Given the description of an element on the screen output the (x, y) to click on. 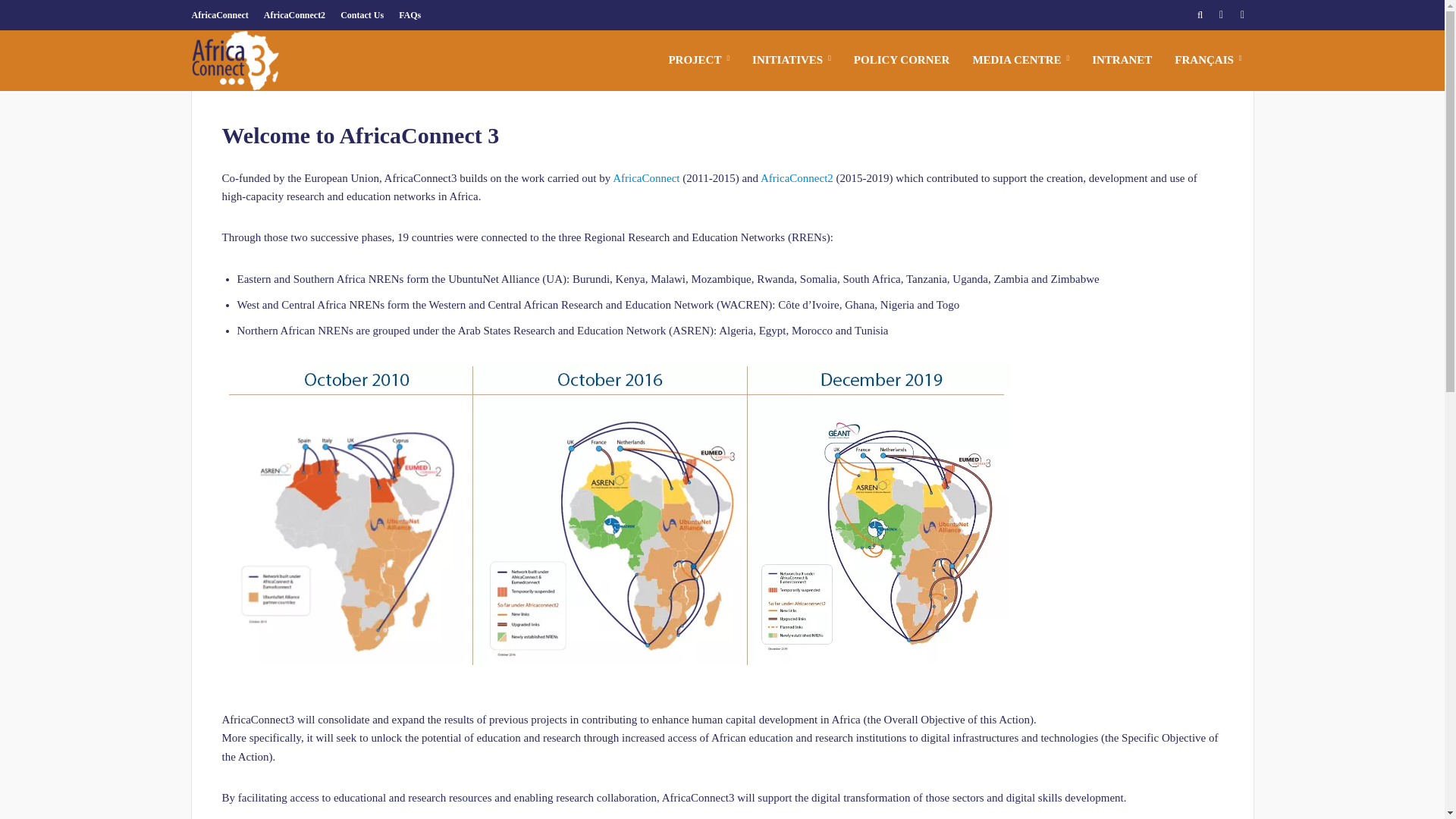
INITIATIVES (792, 60)
AfricaConnect (223, 15)
PROJECT (698, 60)
FAQs (409, 15)
MEDIA CENTRE (1020, 60)
AfricaConnect2 (294, 15)
Contact Us (362, 15)
INTRANET (1121, 60)
POLICY CORNER (901, 60)
